Given the description of an element on the screen output the (x, y) to click on. 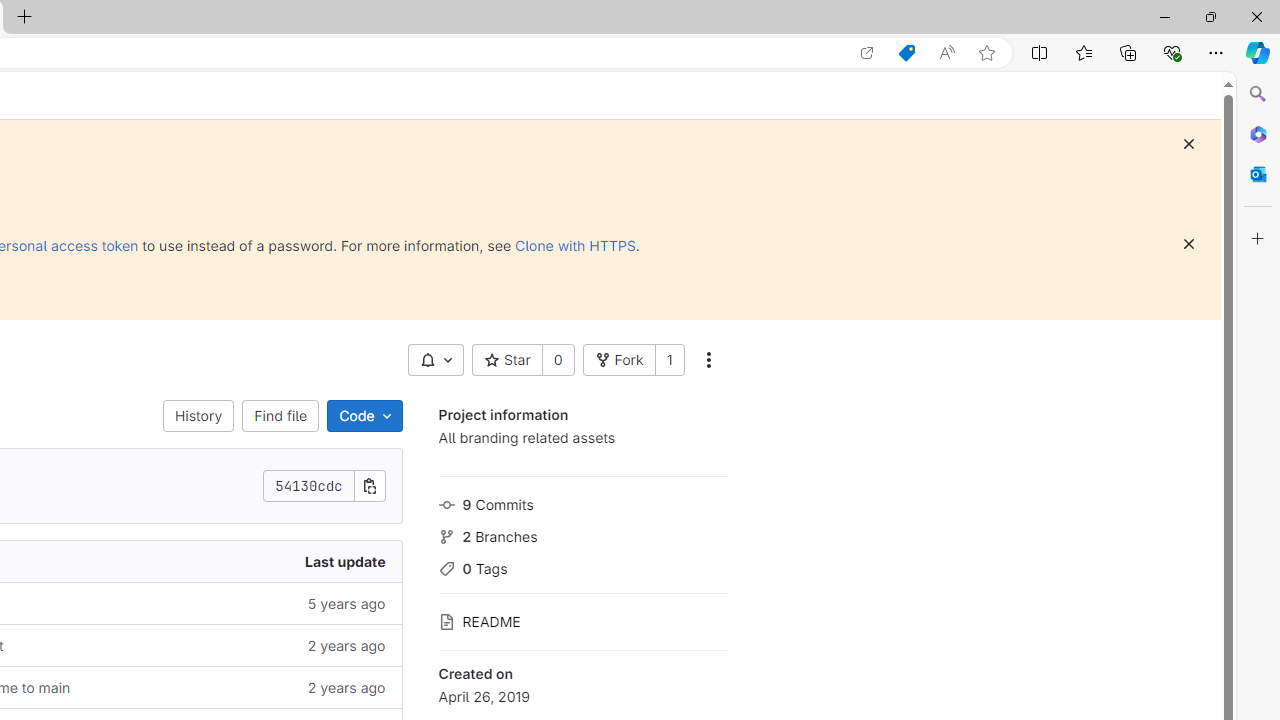
Last update (247, 561)
Find file (280, 416)
9 Commits (582, 502)
History (198, 416)
 Star (506, 359)
README (582, 620)
Dismiss (1188, 243)
More actions (708, 359)
0 Tags (582, 566)
Class: s16 gl-icon gl-button-icon  (1188, 243)
